Given the description of an element on the screen output the (x, y) to click on. 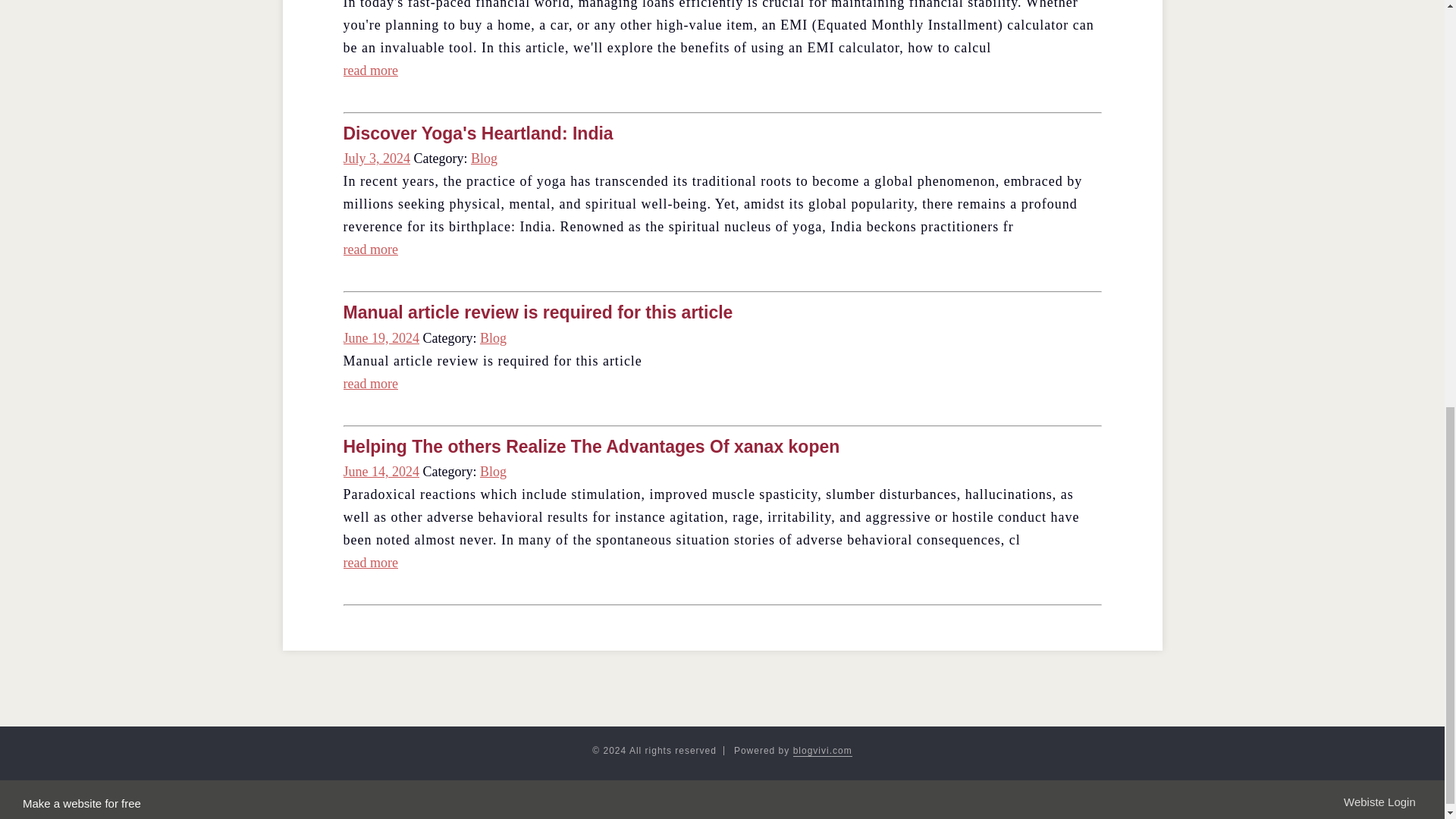
Helping The others Realize The Advantages Of xanax kopen (591, 446)
Blog (493, 471)
Manual article review is required for this article (537, 312)
Blog (493, 337)
June 19, 2024 (380, 337)
read more (369, 383)
read more (369, 70)
Blog (483, 158)
read more (369, 562)
Discover Yoga's Heartland: India (477, 133)
July 3, 2024 (376, 158)
June 14, 2024 (380, 471)
read more (369, 249)
